Given the description of an element on the screen output the (x, y) to click on. 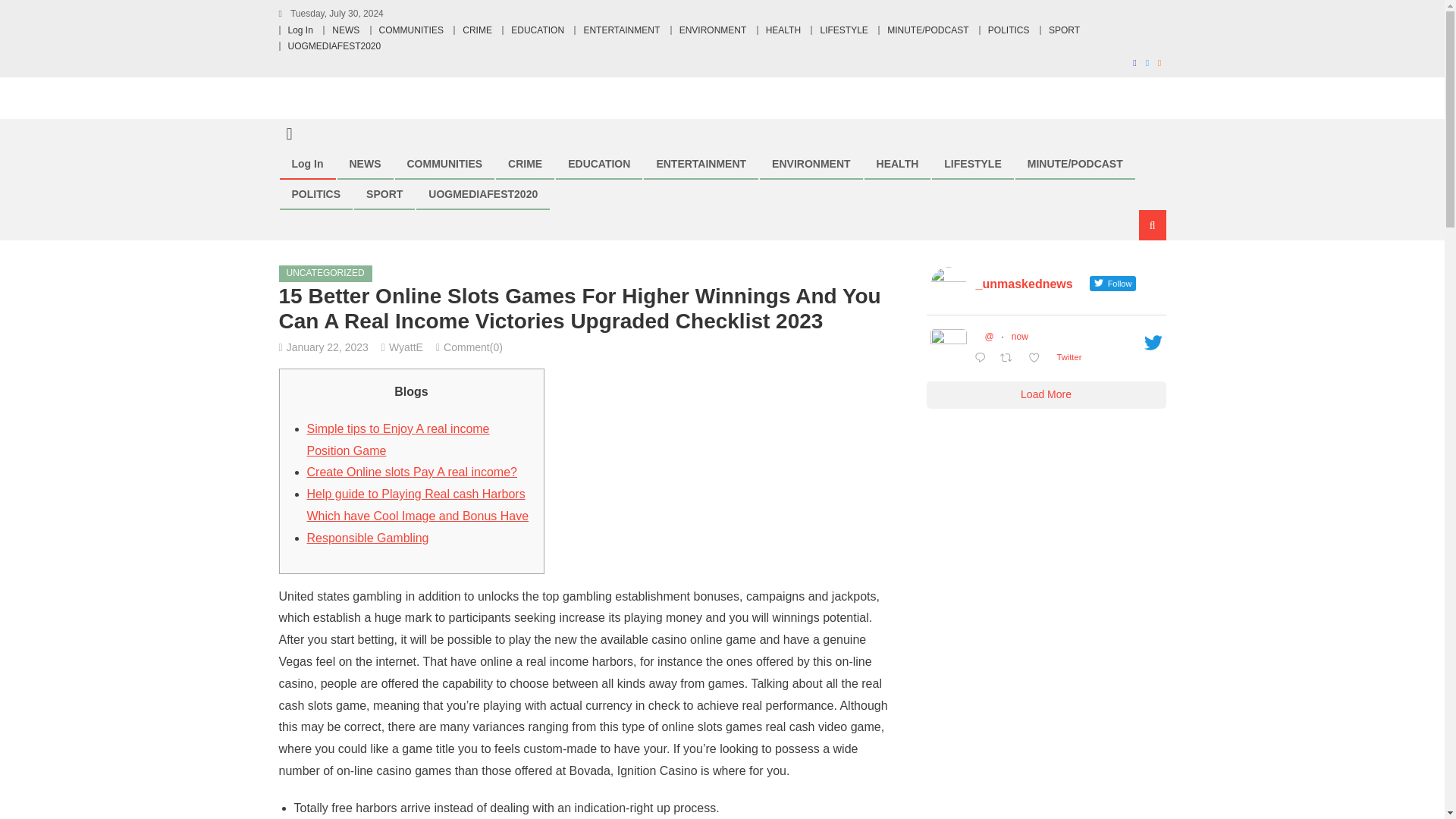
POLITICS (316, 193)
CRIME (524, 163)
LIFESTYLE (843, 30)
ENTERTAINMENT (621, 30)
UNCATEGORIZED (325, 273)
CRIME (477, 30)
POLITICS (1008, 30)
Search (1133, 275)
Log In (300, 30)
WyattE (405, 346)
UOGMEDIAFEST2020 (482, 193)
EDUCATION (599, 163)
HEALTH (897, 163)
UOGMEDIAFEST2020 (334, 45)
ENTERTAINMENT (701, 163)
